Given the description of an element on the screen output the (x, y) to click on. 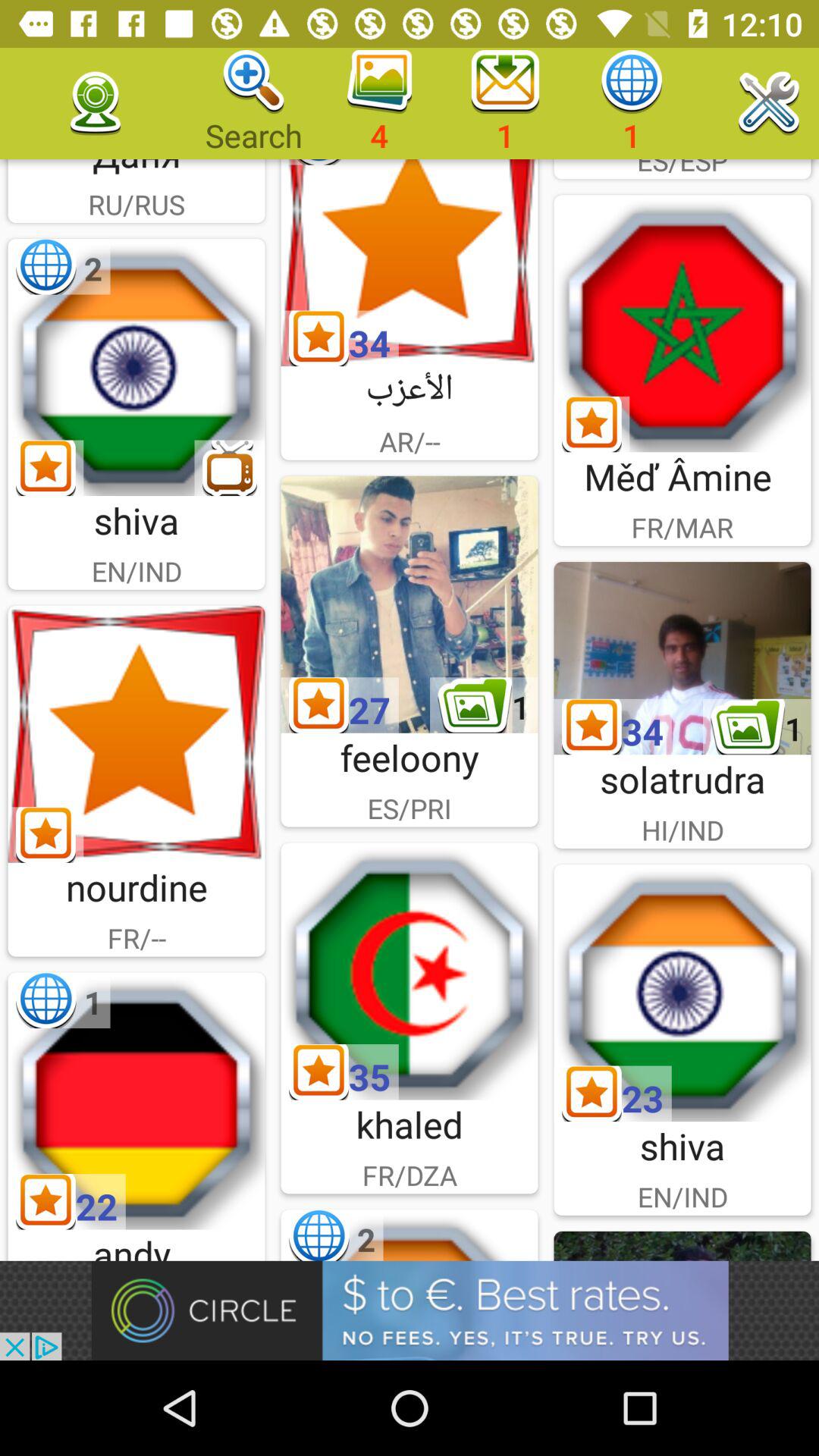
select friend (409, 604)
